Given the description of an element on the screen output the (x, y) to click on. 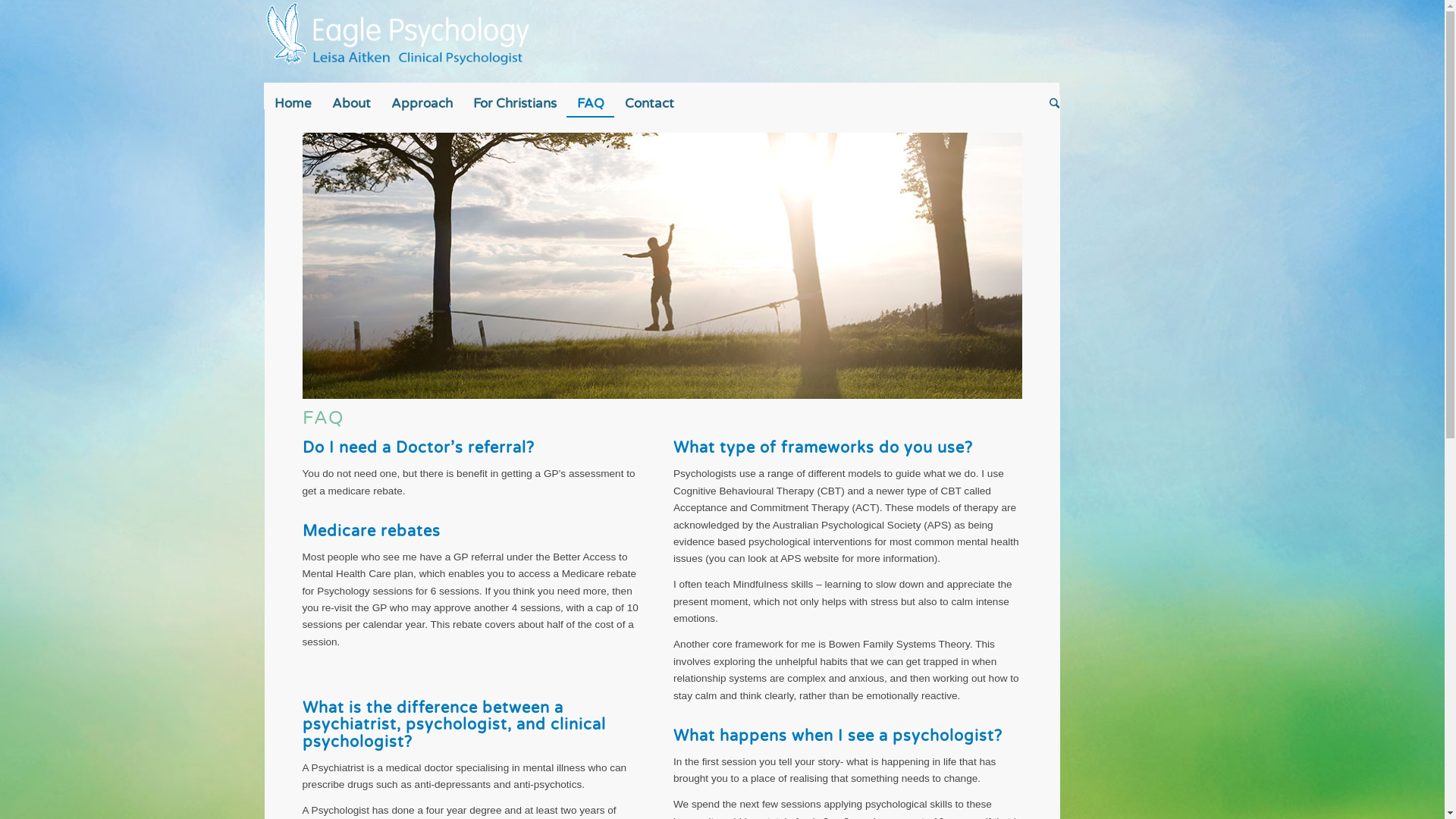
Contact Element type: text (649, 103)
Leisa Aitken - Christian Clinical Psychologist blog Element type: hover (661, 265)
FAQ Element type: text (589, 103)
Home Element type: text (292, 103)
For Christians Element type: text (514, 103)
Approach Element type: text (421, 103)
About Element type: text (350, 103)
